Given the description of an element on the screen output the (x, y) to click on. 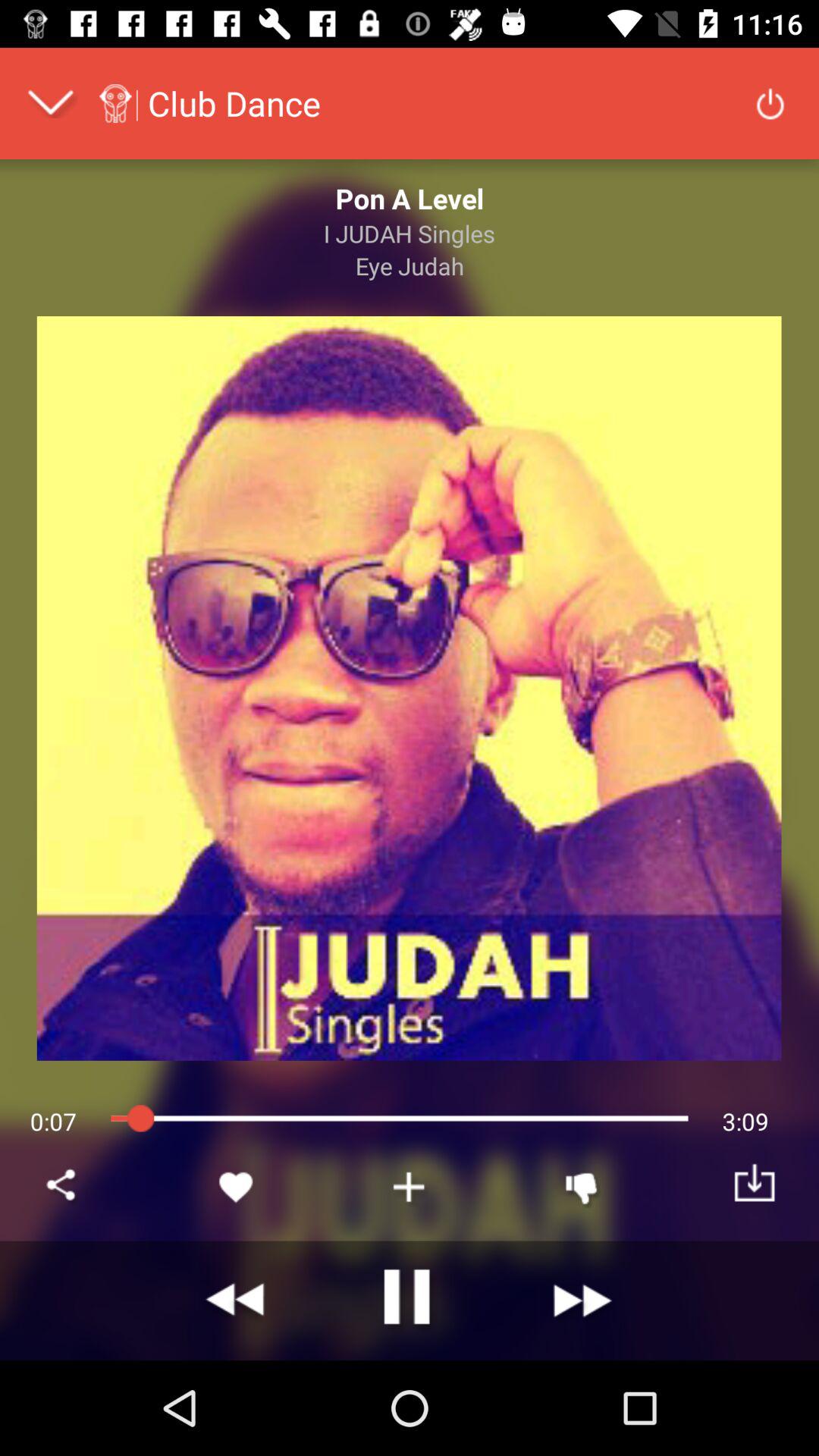
share button (63, 1186)
